Given the description of an element on the screen output the (x, y) to click on. 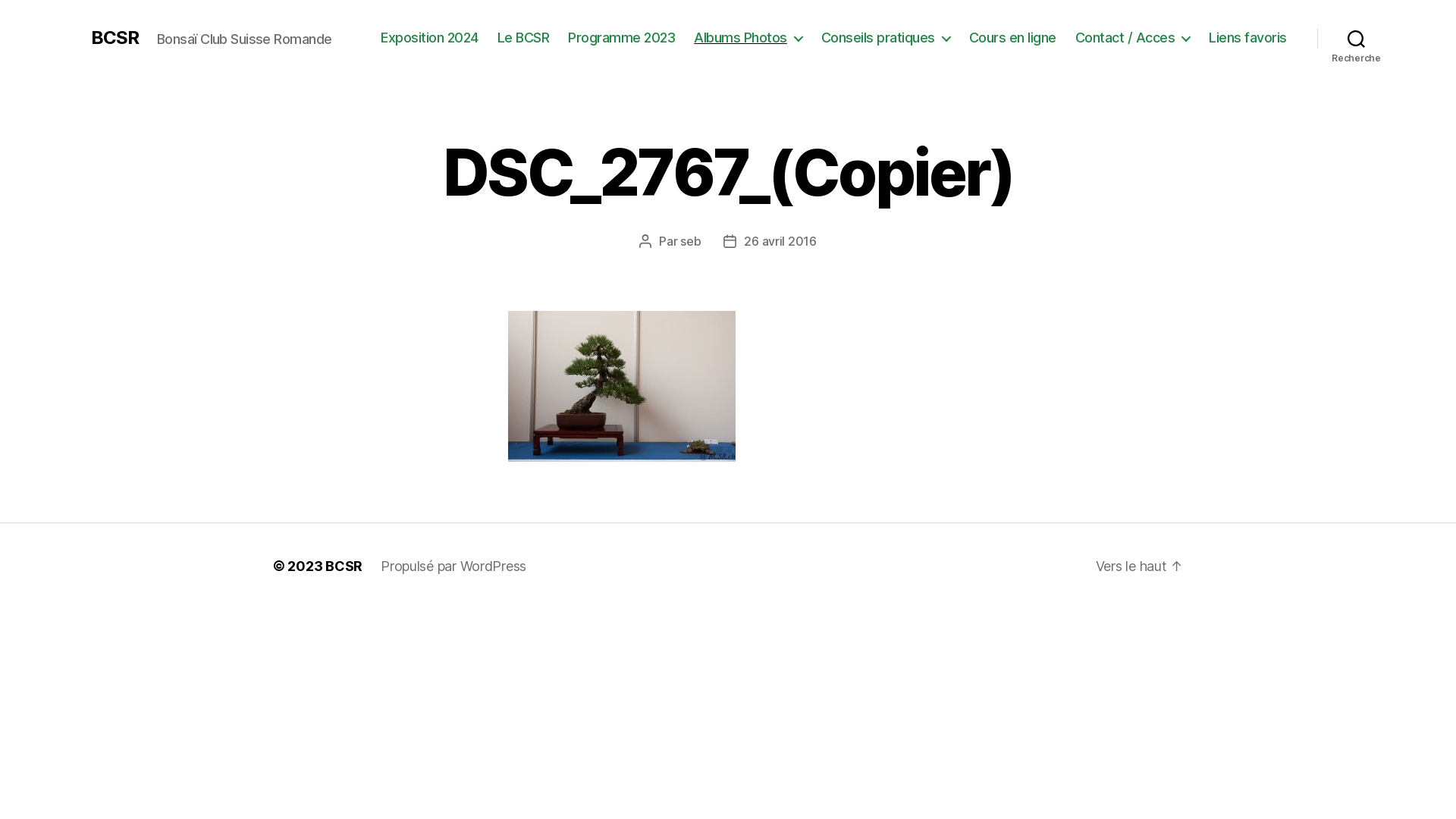
Exposition 2024 Element type: text (429, 37)
Albums Photos Element type: text (747, 37)
BCSR Element type: text (343, 566)
Programme 2023 Element type: text (620, 37)
BCSR Element type: text (114, 37)
Conseils pratiques Element type: text (885, 37)
26 avril 2016 Element type: text (779, 240)
Cours en ligne Element type: text (1012, 37)
Recherche Element type: text (1356, 37)
Liens favoris Element type: text (1247, 37)
Le BCSR Element type: text (523, 37)
Contact / Acces Element type: text (1132, 37)
seb Element type: text (690, 240)
